Given the description of an element on the screen output the (x, y) to click on. 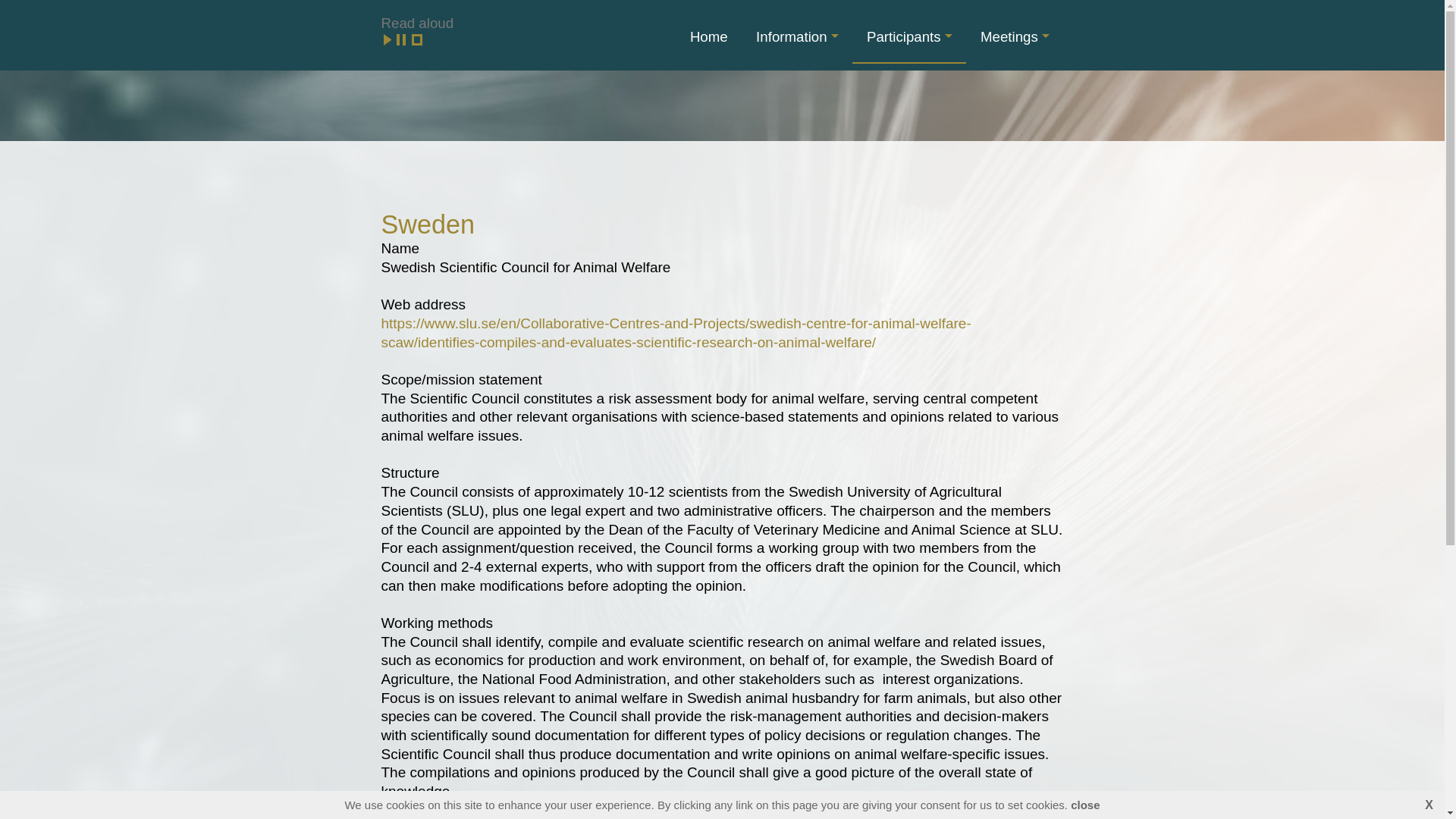
Participants (908, 36)
Home (708, 36)
Meetings (1014, 36)
Information (796, 36)
